Given the description of an element on the screen output the (x, y) to click on. 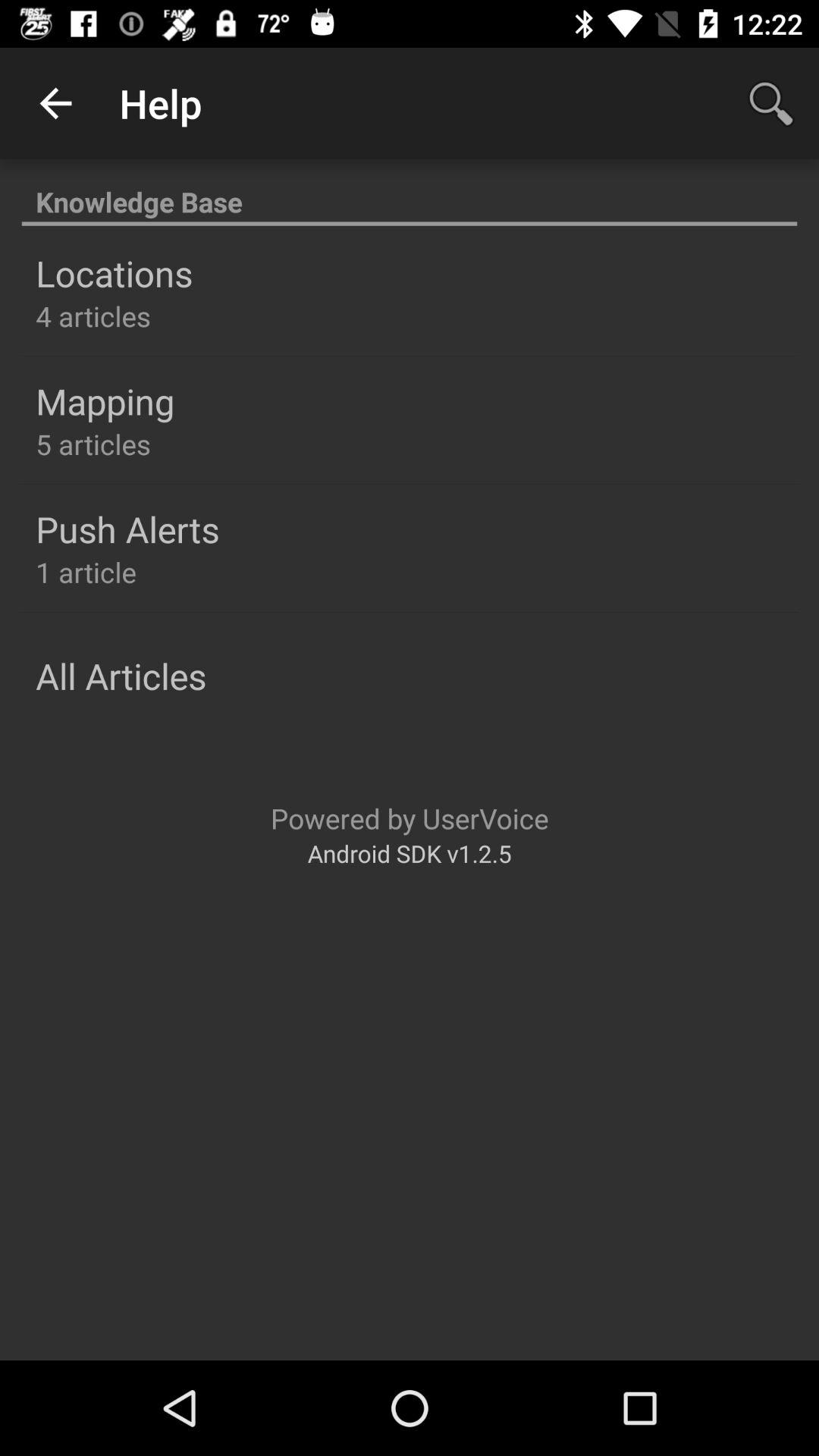
turn on icon below the locations item (92, 315)
